Given the description of an element on the screen output the (x, y) to click on. 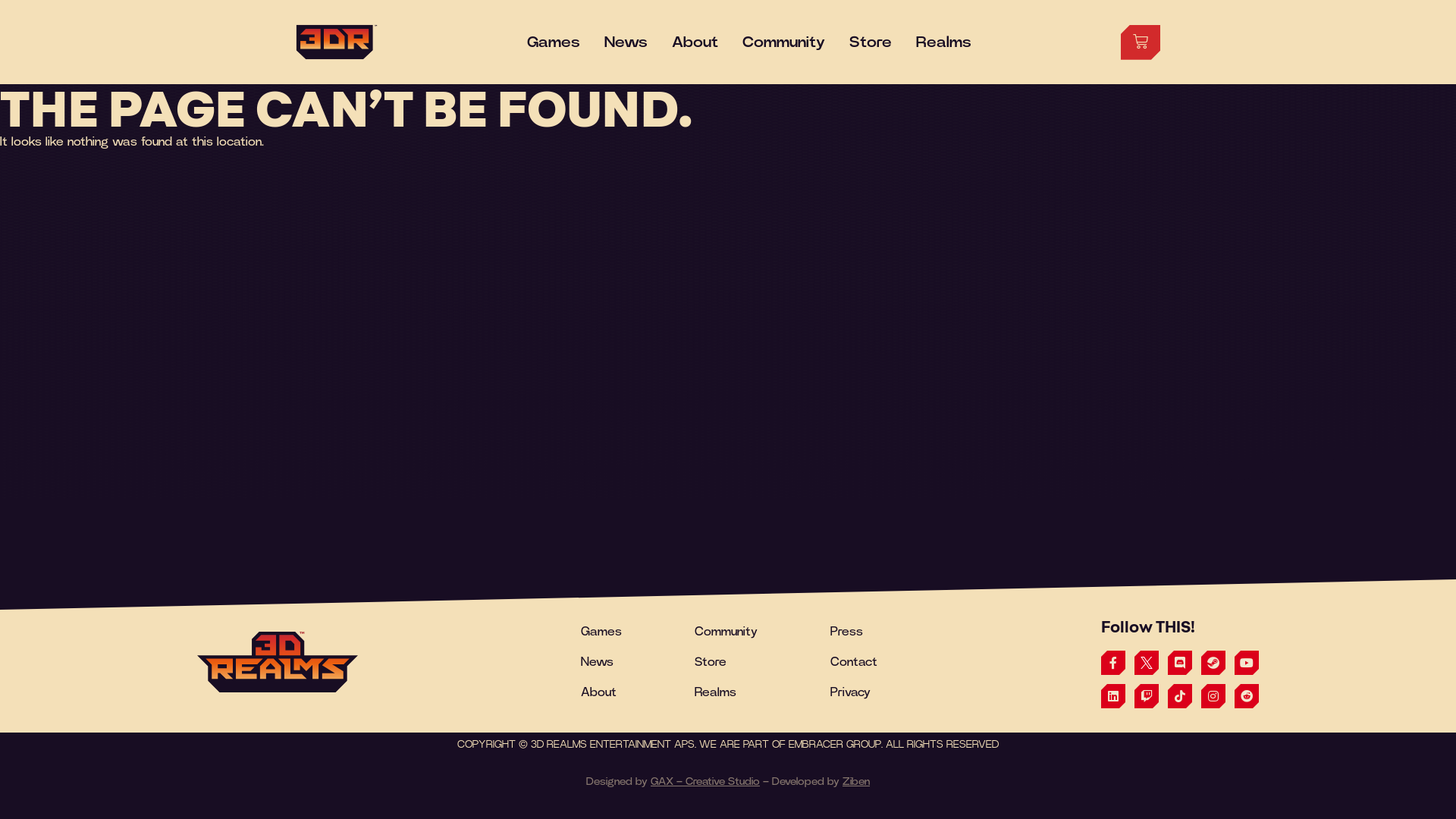
Press Element type: text (846, 631)
Contact Element type: text (853, 661)
Community Element type: text (783, 42)
Realms Element type: text (943, 42)
News Element type: text (596, 661)
Realms Element type: text (715, 692)
Store Element type: text (870, 42)
Privacy Element type: text (850, 692)
Ziben Element type: text (855, 781)
News Element type: text (625, 42)
About Element type: text (694, 42)
Store Element type: text (710, 661)
About Element type: text (598, 692)
Games Element type: text (553, 42)
Games Element type: text (600, 631)
Community Element type: text (725, 631)
